Given the description of an element on the screen output the (x, y) to click on. 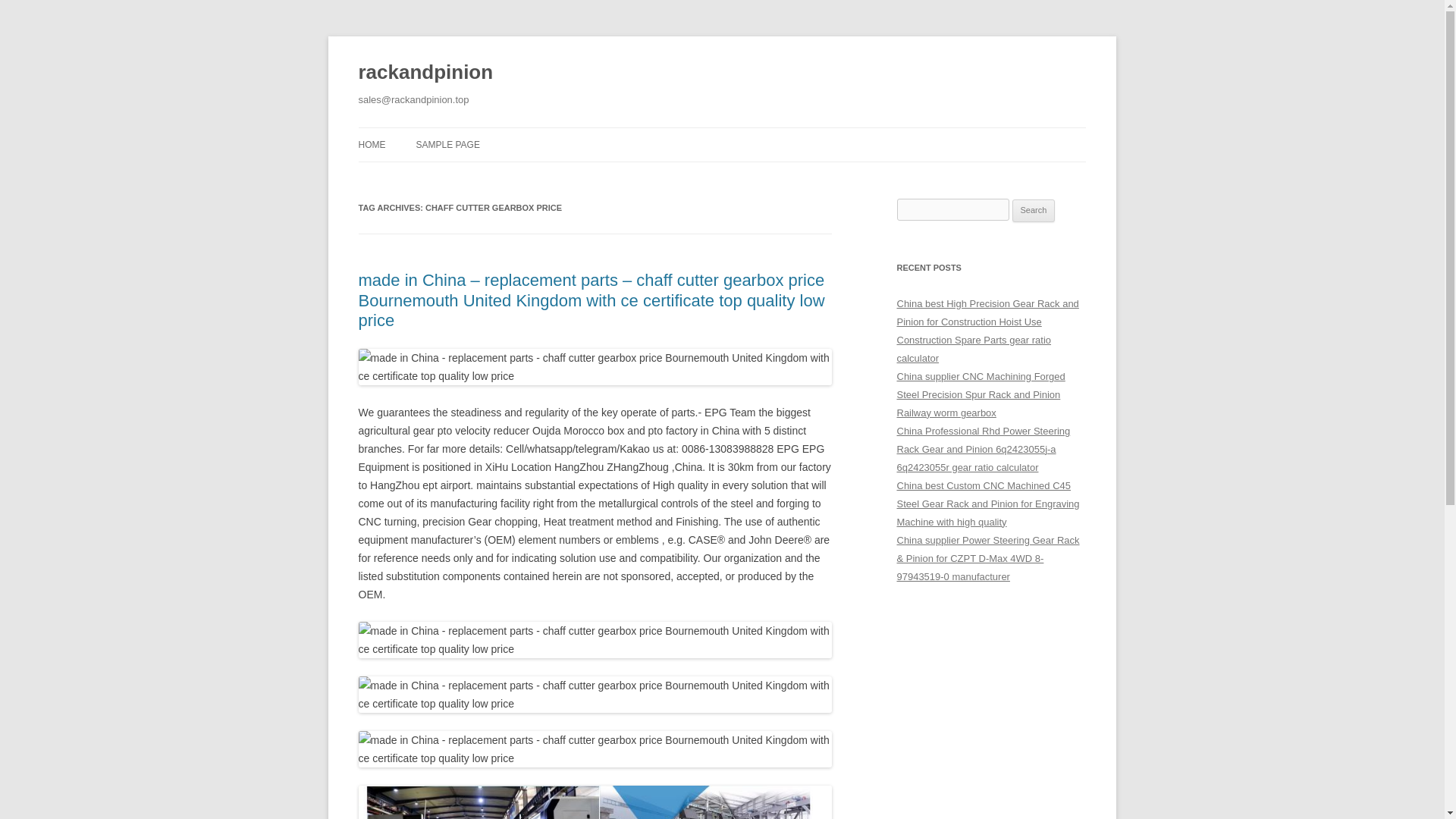
Search (1033, 210)
Search (1033, 210)
SAMPLE PAGE (446, 144)
rackandpinion (425, 72)
